Given the description of an element on the screen output the (x, y) to click on. 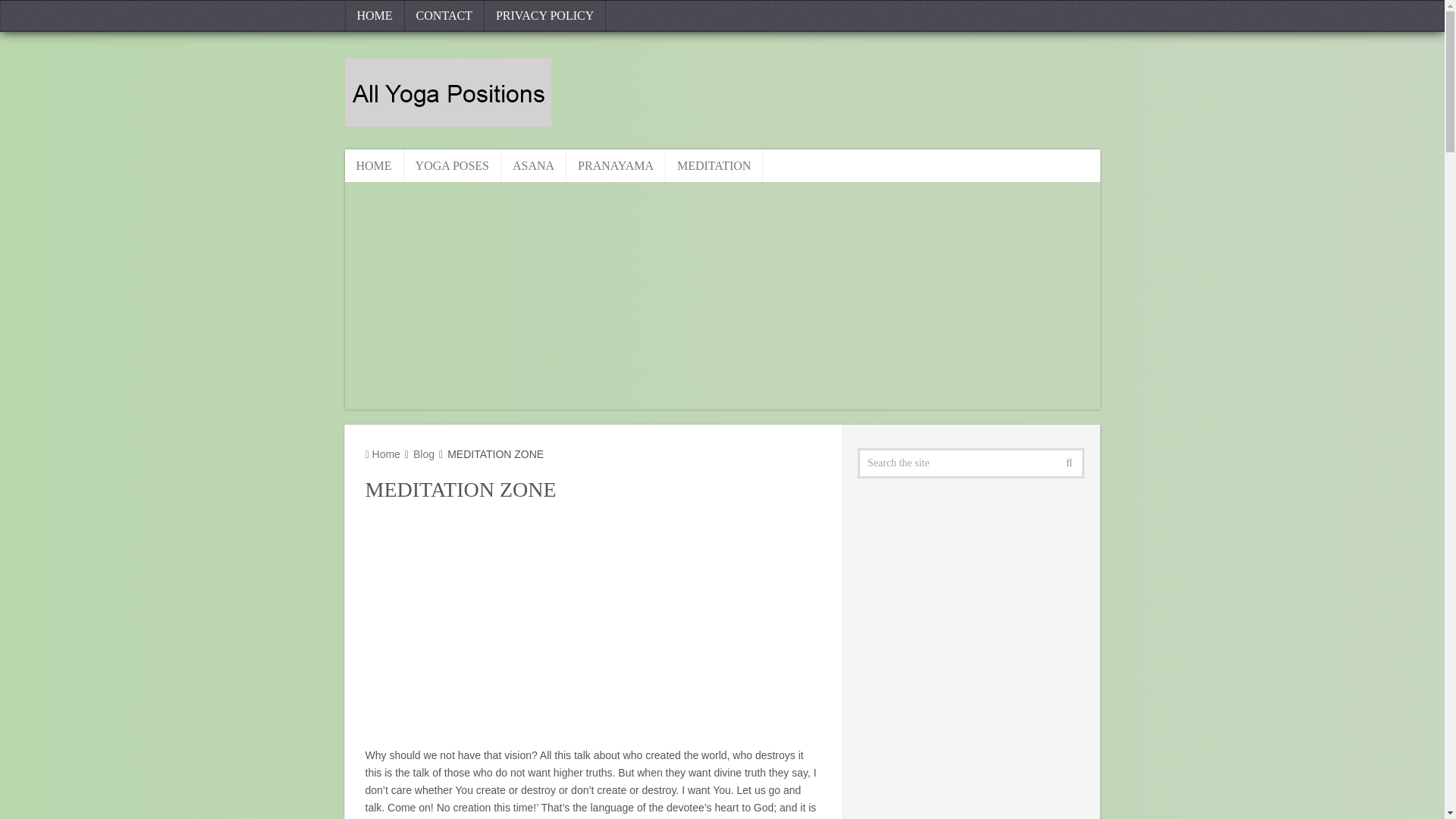
MEDITATION (713, 165)
PRIVACY POLICY (544, 15)
Home (382, 453)
ASANA (533, 165)
PRANAYAMA (615, 165)
CONTACT (444, 15)
Blog (423, 453)
YOGA POSES (452, 165)
HOME (373, 15)
HOME (373, 165)
